Given the description of an element on the screen output the (x, y) to click on. 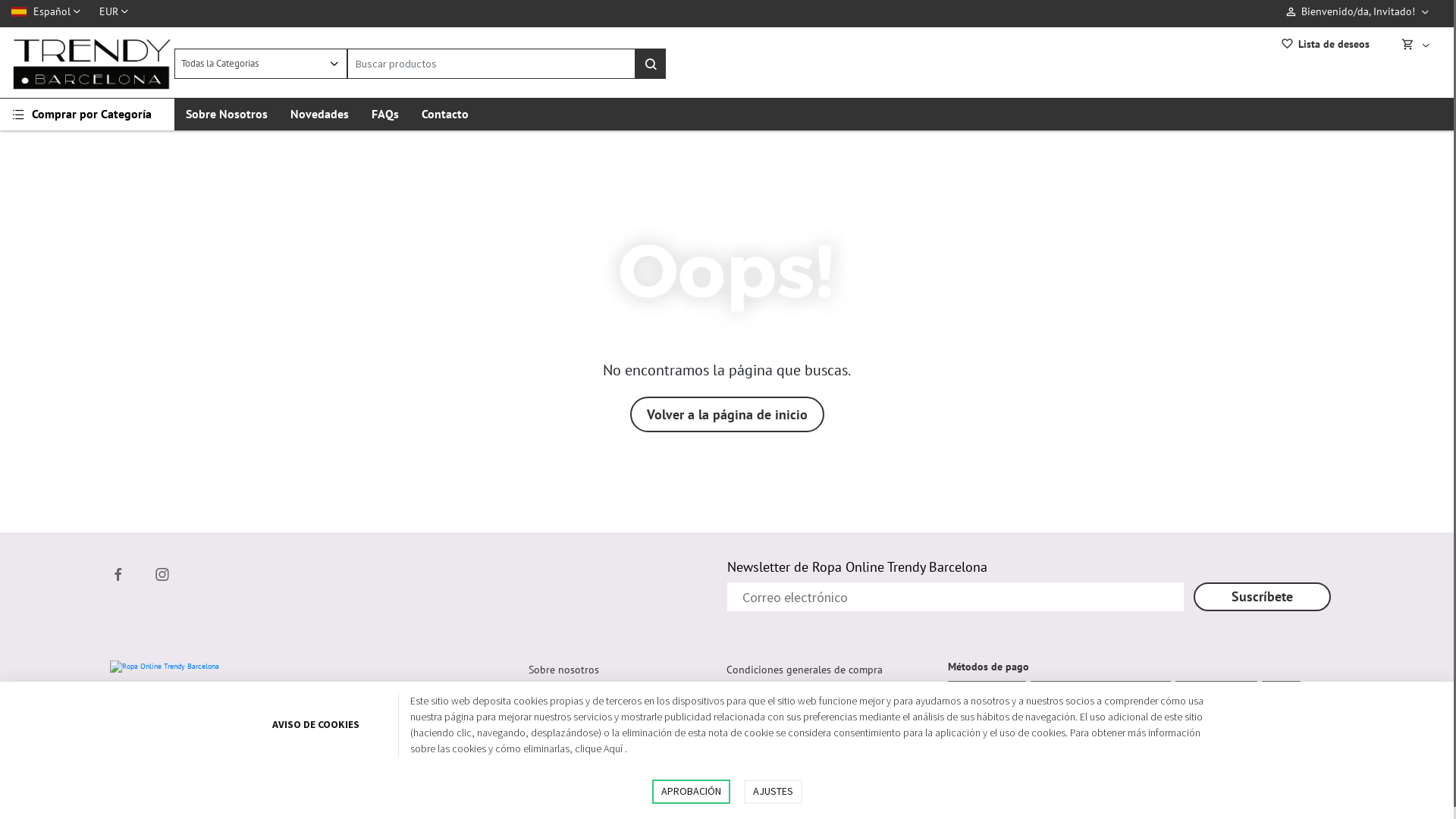
FAQs Element type: text (385, 113)
Contacto Element type: text (445, 113)
Sobre Nosotros Element type: text (226, 113)
Por Marca Element type: text (551, 745)
facebook Element type: hover (117, 574)
Aviso legal Element type: text (751, 692)
Condiciones generales de compra Element type: text (804, 669)
Accesorios Element type: text (552, 768)
Ropa Online Trendy Barcelona Element type: hover (86, 62)
Ropa Online Trendy Barcelona Element type: hover (164, 666)
instagram Element type: hover (161, 574)
favorite_border Lista de deseos Element type: text (1324, 46)
@trendymodatorello Element type: text (287, 727)
Novedades Element type: text (319, 113)
Sobre nosotros Element type: text (563, 669)
AJUSTES Element type: text (772, 791)
Outlet y Rebajas Element type: text (565, 790)
Novedades Element type: text (553, 722)
shopping_cart Element type: text (1411, 43)
